Given the description of an element on the screen output the (x, y) to click on. 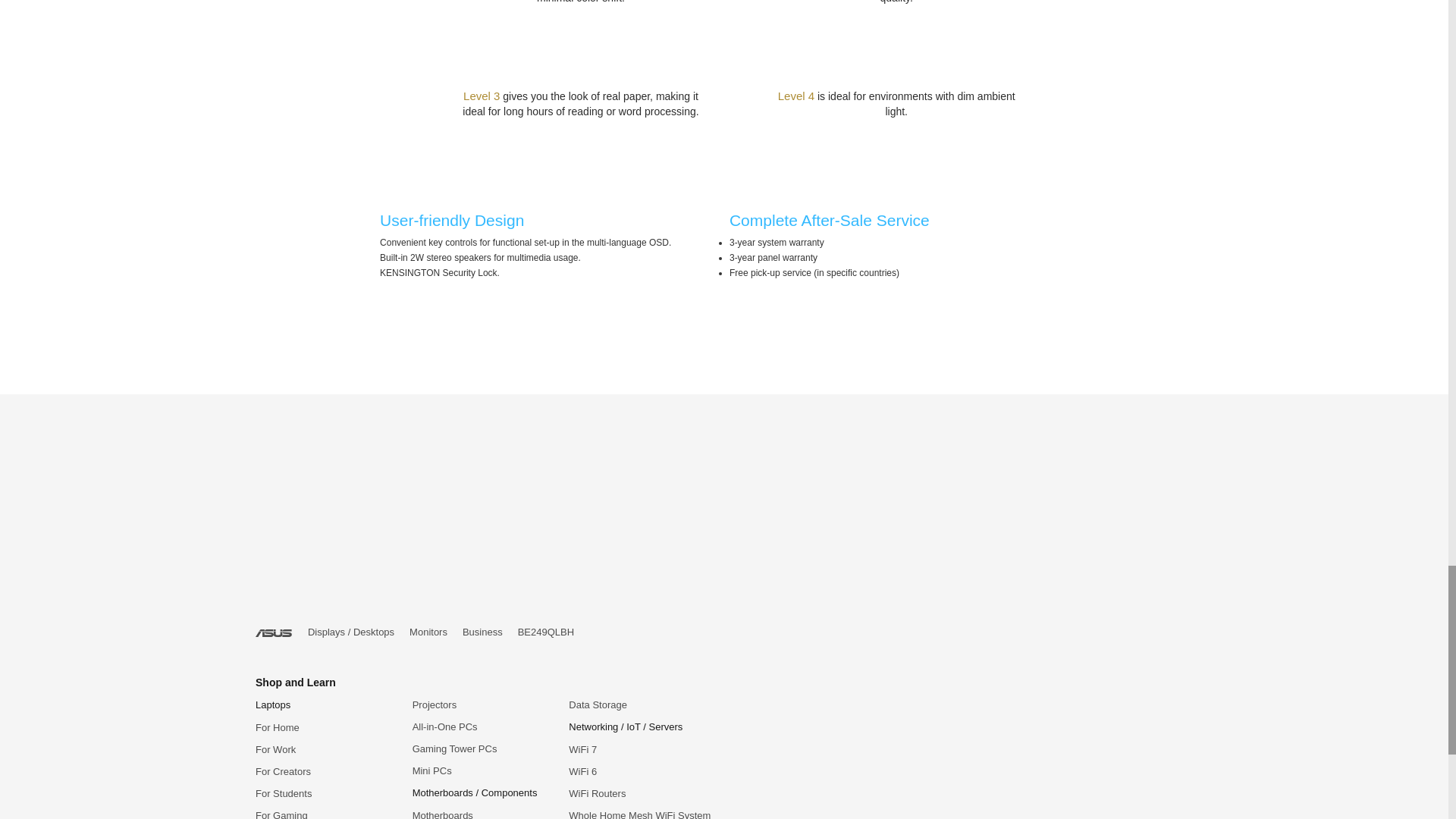
Projectors (434, 704)
For Students (283, 793)
For Work (275, 749)
Business (482, 632)
BE249QLBH (545, 632)
For Home (277, 727)
For Gaming (281, 814)
For Creators (283, 771)
